Given the description of an element on the screen output the (x, y) to click on. 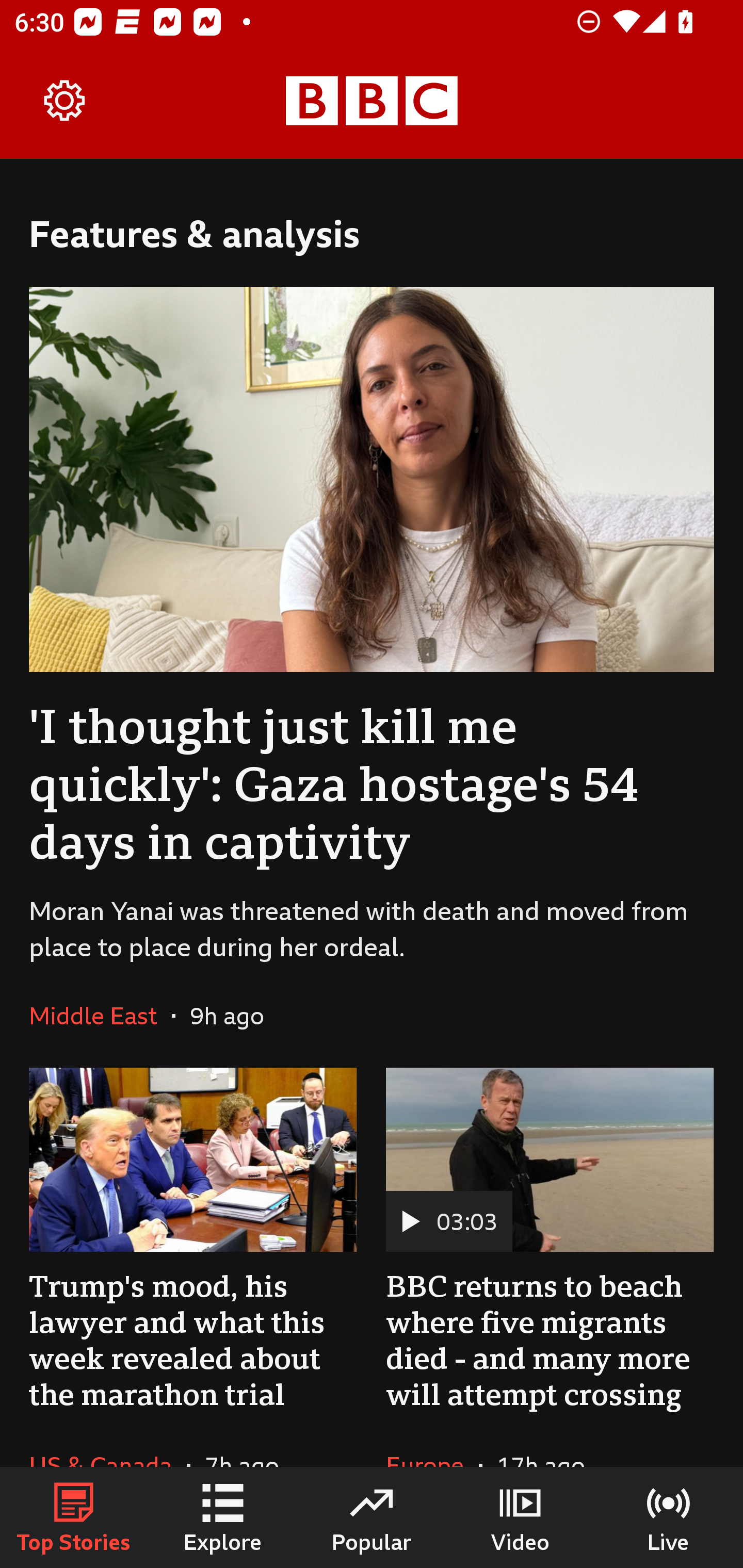
Settings (64, 100)
Middle East In the section Middle East (99, 1014)
Explore (222, 1517)
Popular (371, 1517)
Video (519, 1517)
Live (668, 1517)
